Given the description of an element on the screen output the (x, y) to click on. 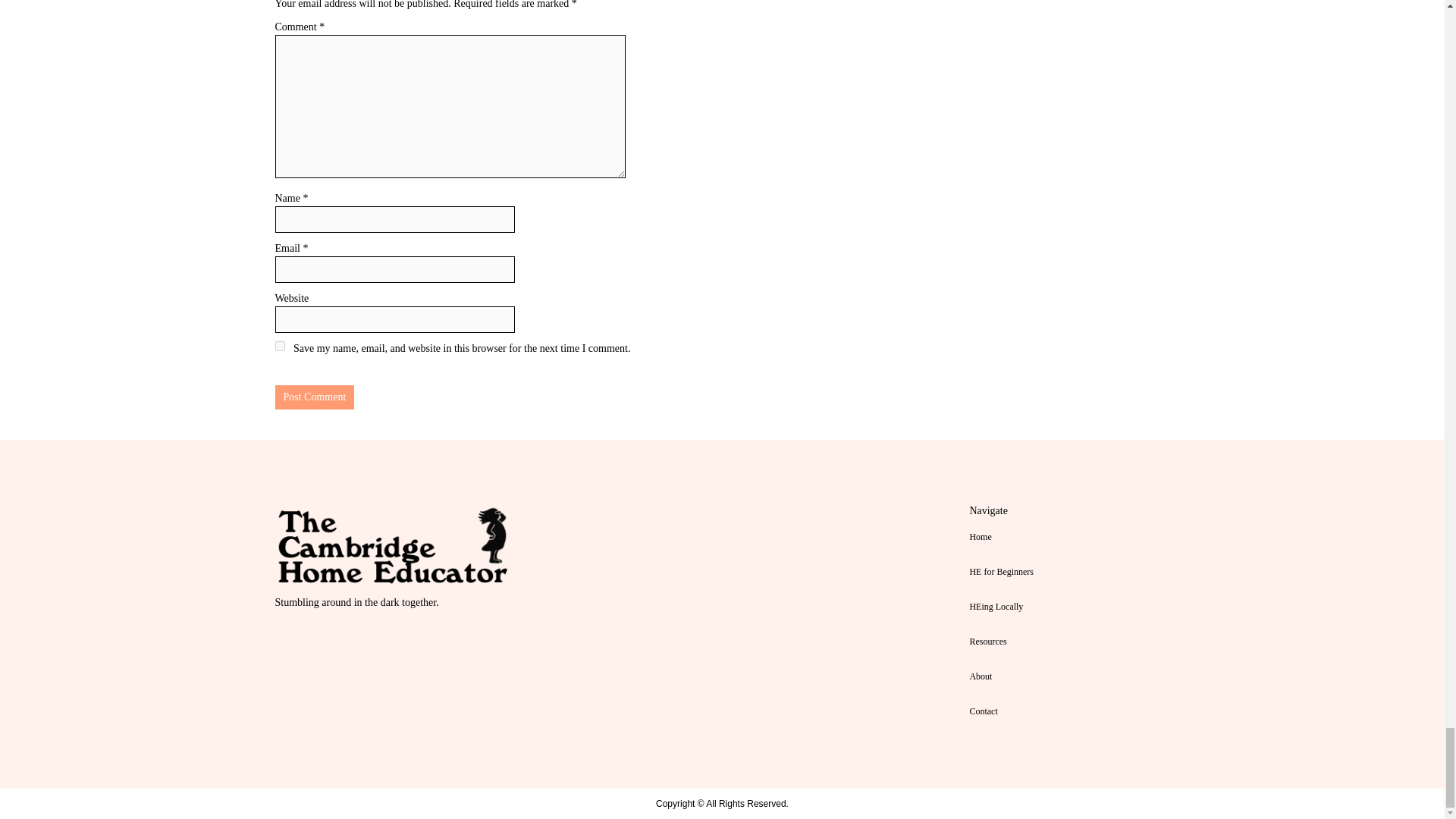
The Cambridge Home Educator (397, 545)
yes (279, 346)
Post Comment (314, 396)
